Given the description of an element on the screen output the (x, y) to click on. 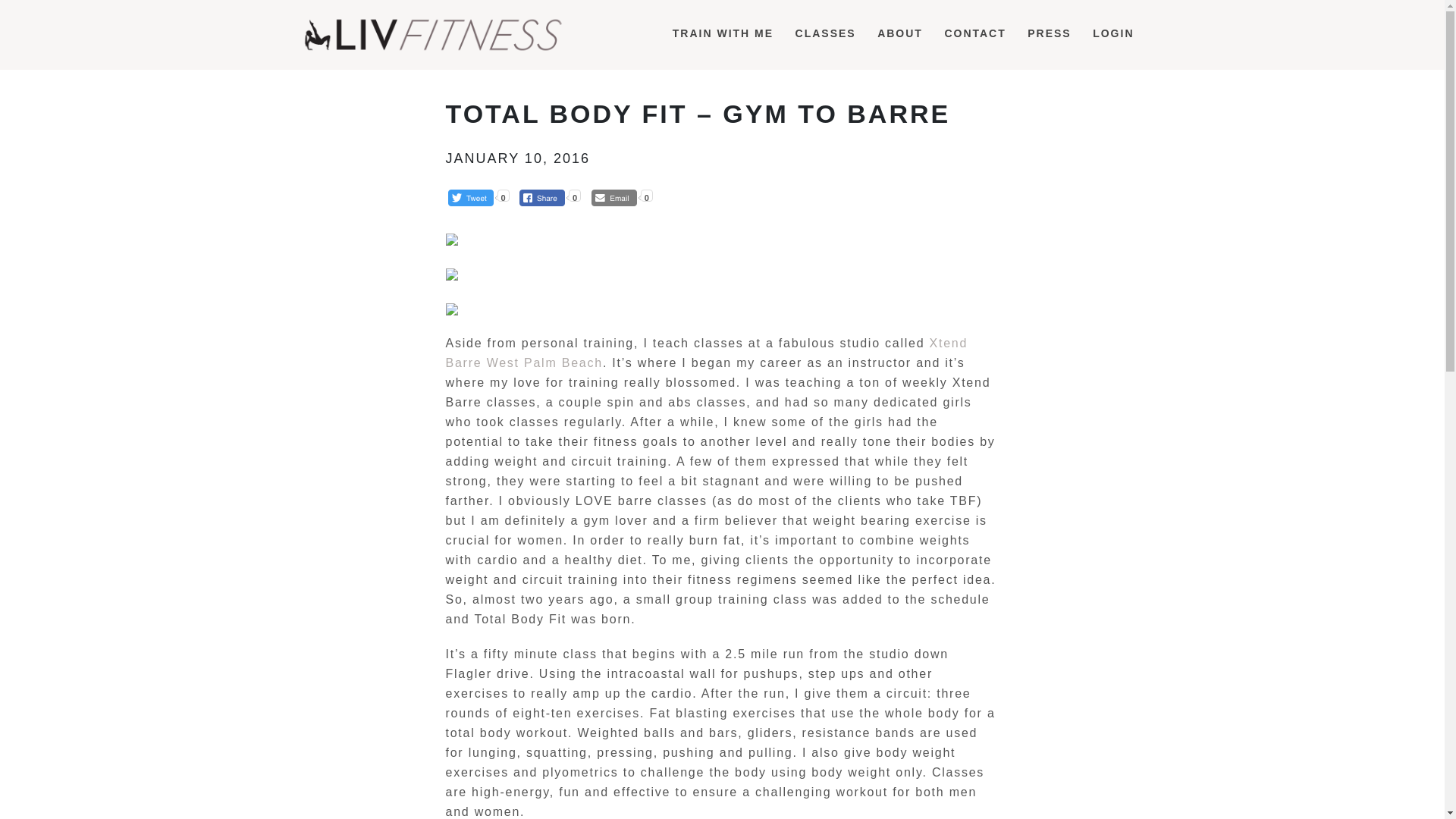
TRAIN WITH ME (722, 33)
PRESS (1048, 33)
CLASSES (825, 33)
LOGIN (1112, 33)
ABOUT (900, 33)
CONTACT (974, 33)
Xtend Barre West Palm Beach (706, 352)
